Given the description of an element on the screen output the (x, y) to click on. 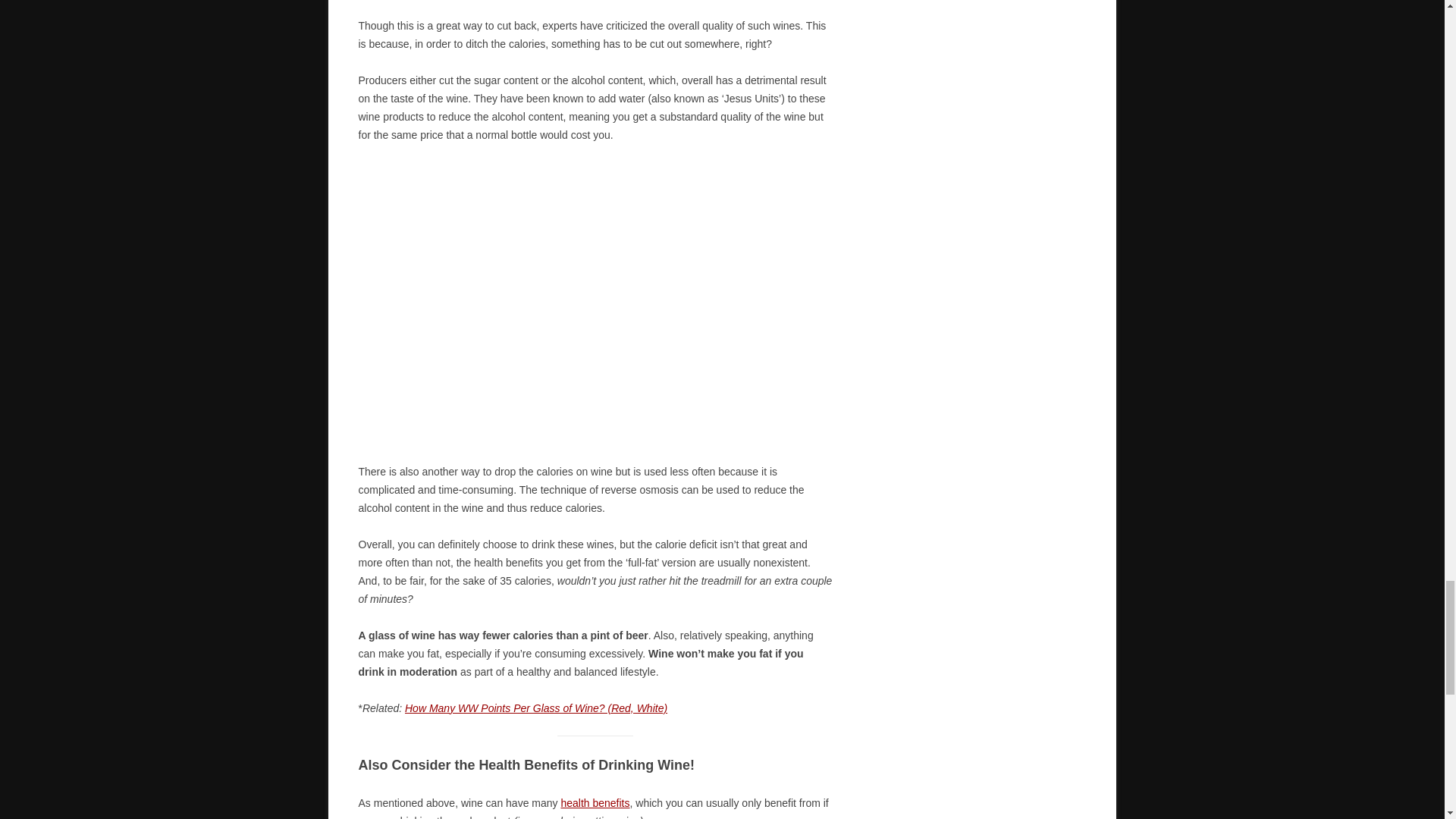
health benefits (594, 802)
